Given the description of an element on the screen output the (x, y) to click on. 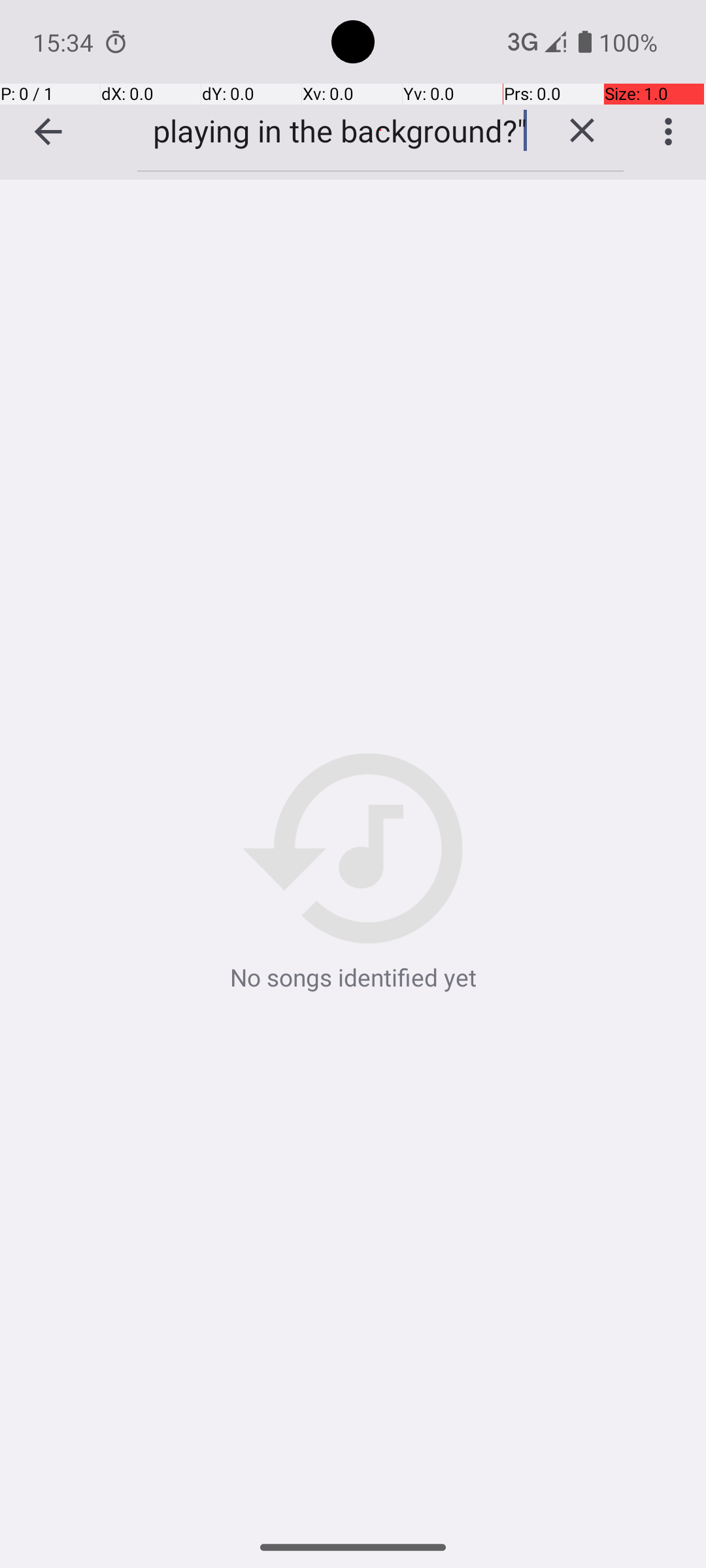
"What's that song playing in the background?" Element type: android.widget.AutoCompleteTextView (338, 130)
No songs identified yet Element type: android.widget.TextView (353, 873)
